Given the description of an element on the screen output the (x, y) to click on. 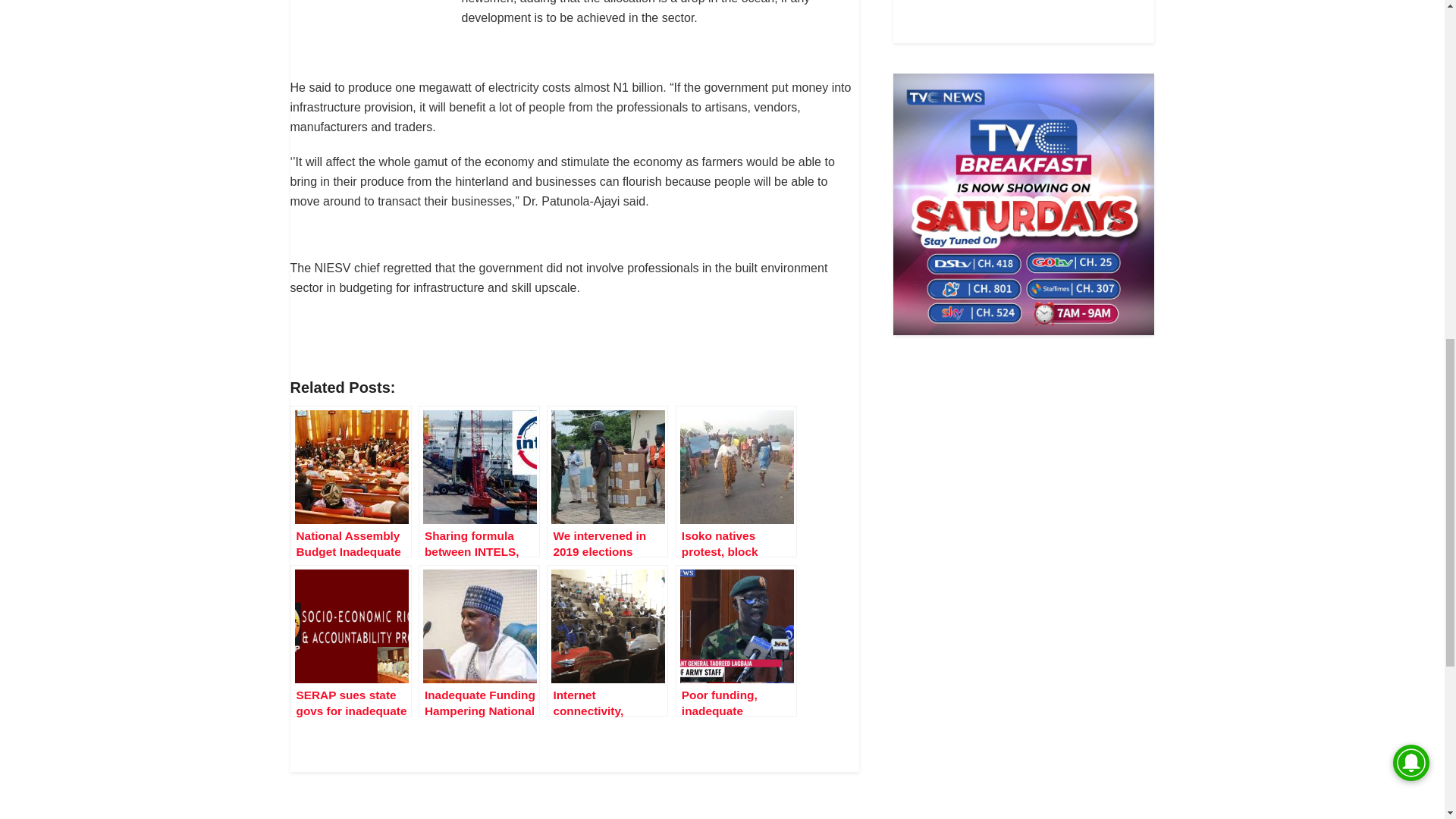
Advertisement (1023, 18)
